Given the description of an element on the screen output the (x, y) to click on. 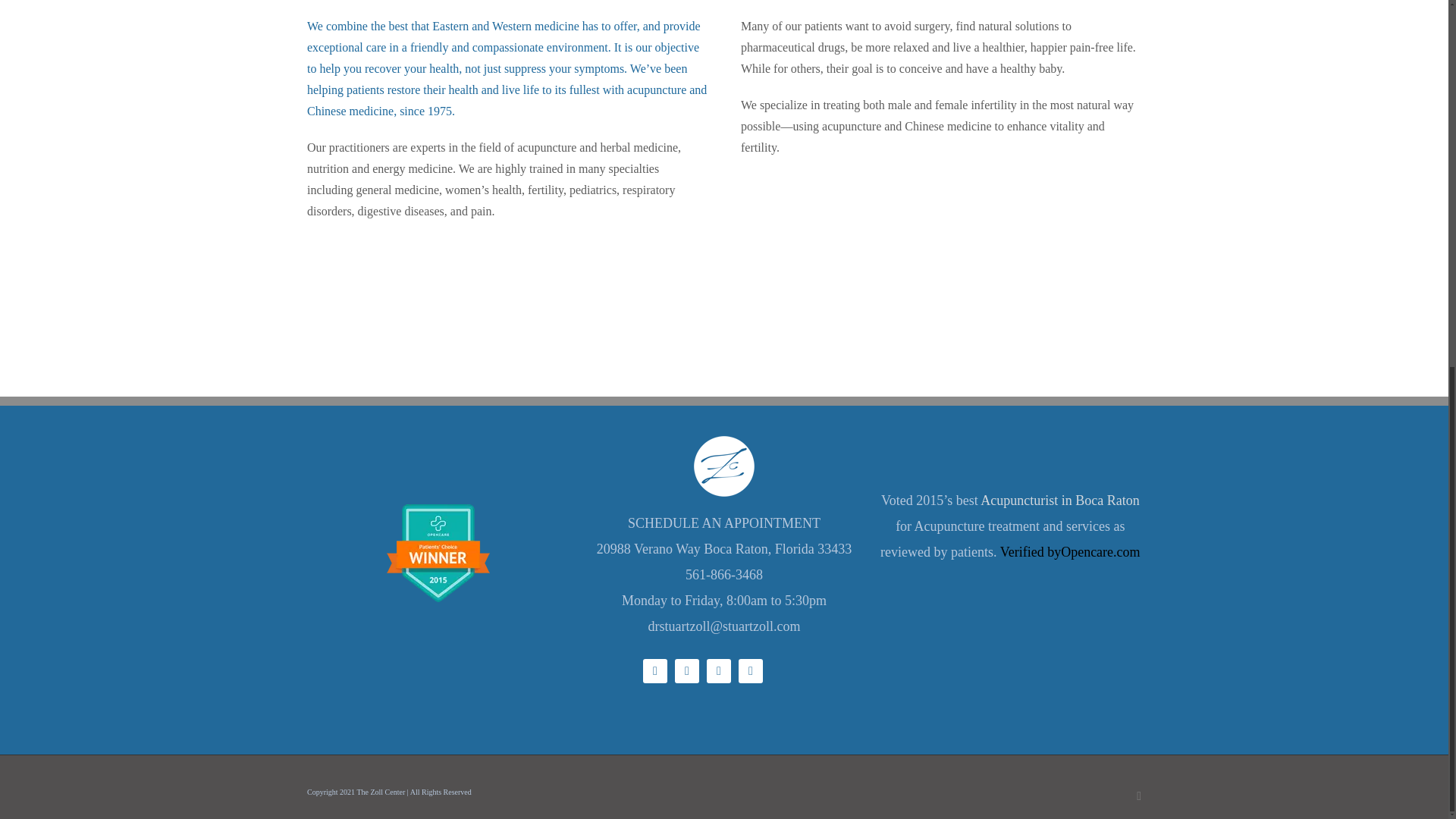
X (686, 671)
Facebook (1139, 796)
Facebook (654, 671)
Email (750, 671)
LinkedIn (718, 671)
